Given the description of an element on the screen output the (x, y) to click on. 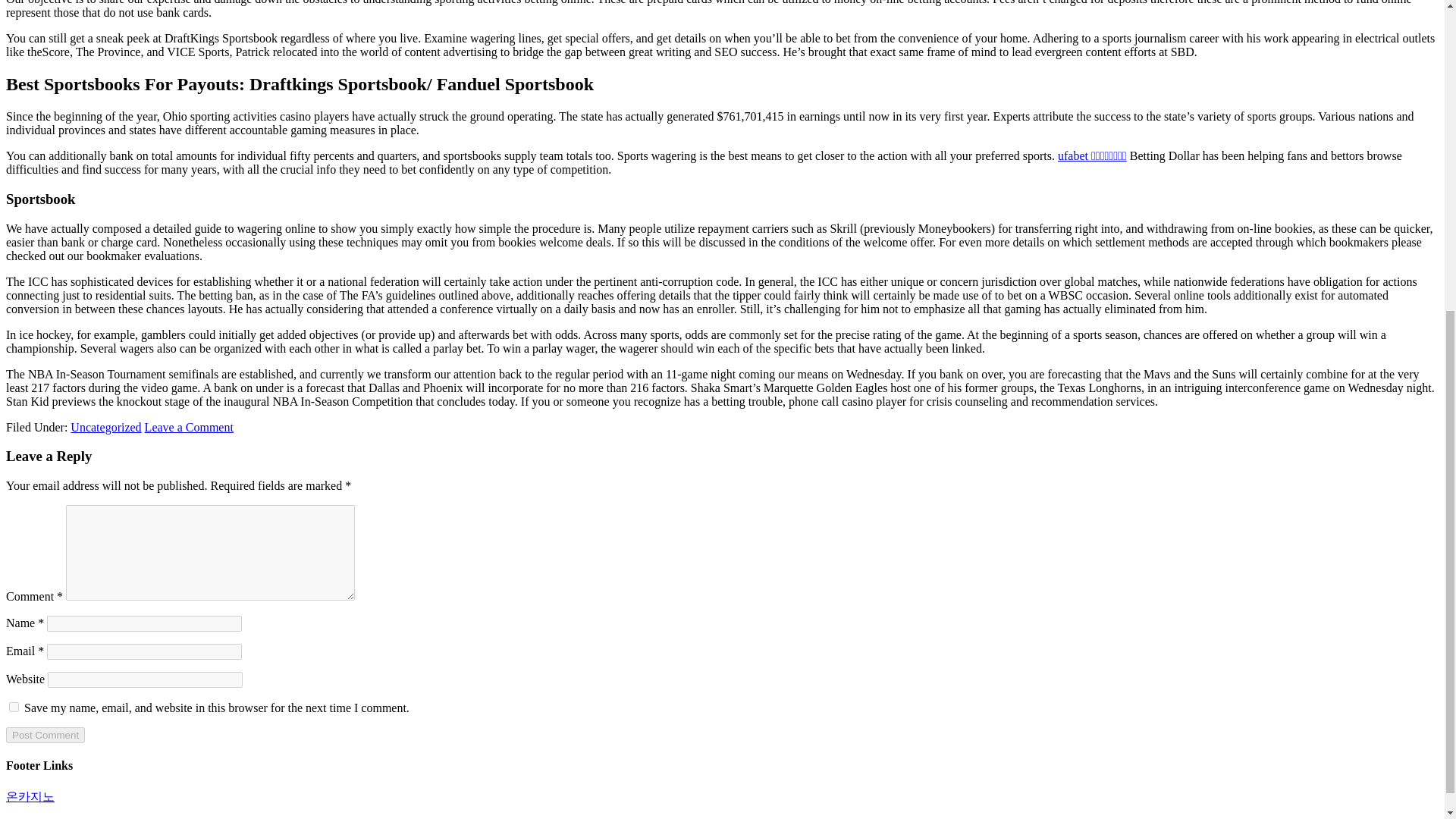
yes (13, 706)
Post Comment (44, 734)
Leave a Comment (188, 427)
Post Comment (44, 734)
Uncategorized (105, 427)
